Given the description of an element on the screen output the (x, y) to click on. 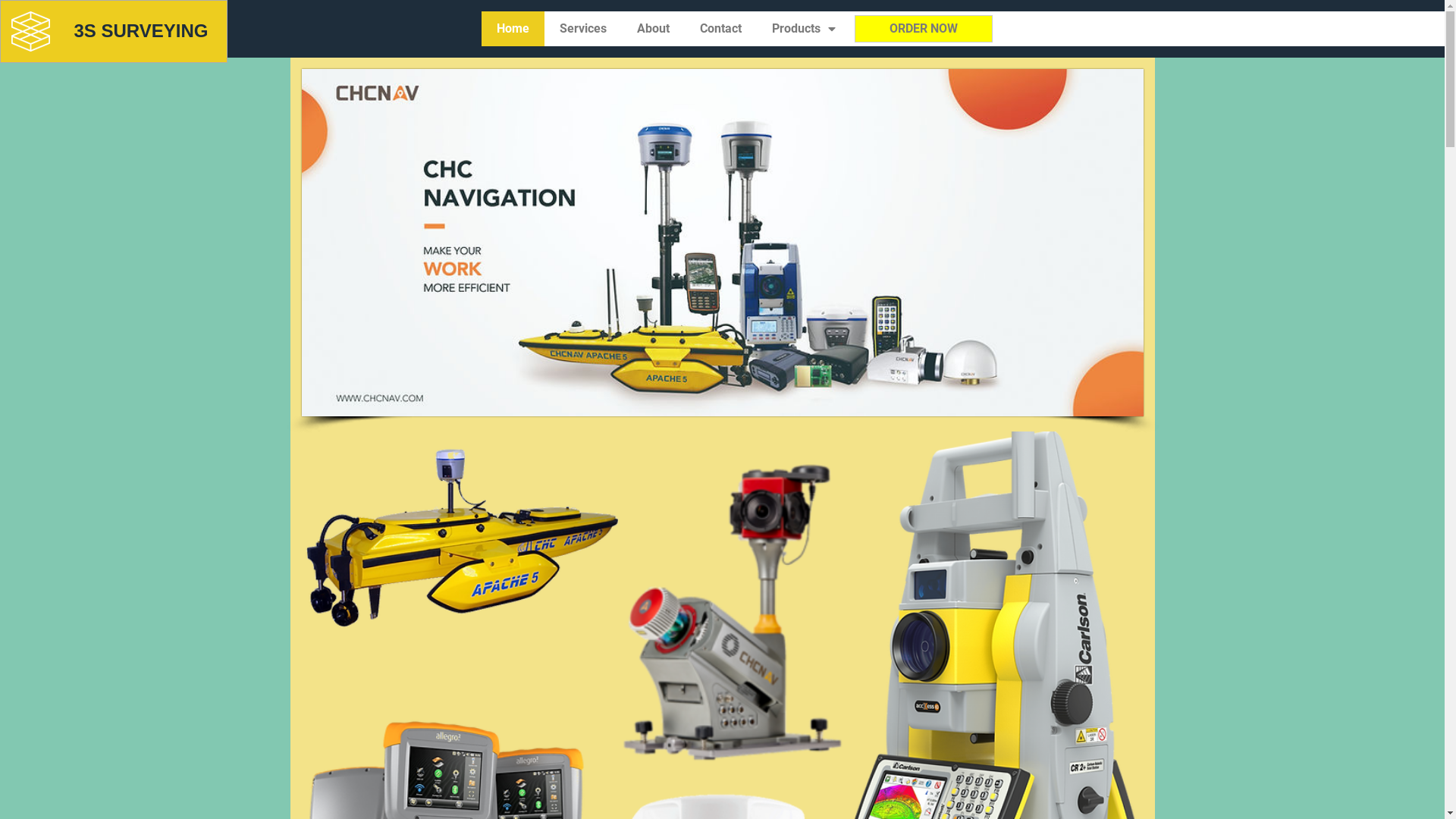
Products Element type: text (803, 28)
Contact Element type: text (720, 28)
About Element type: text (652, 28)
Services Element type: text (582, 28)
Home Element type: text (512, 28)
ORDER NOW Element type: text (923, 28)
